Given the description of an element on the screen output the (x, y) to click on. 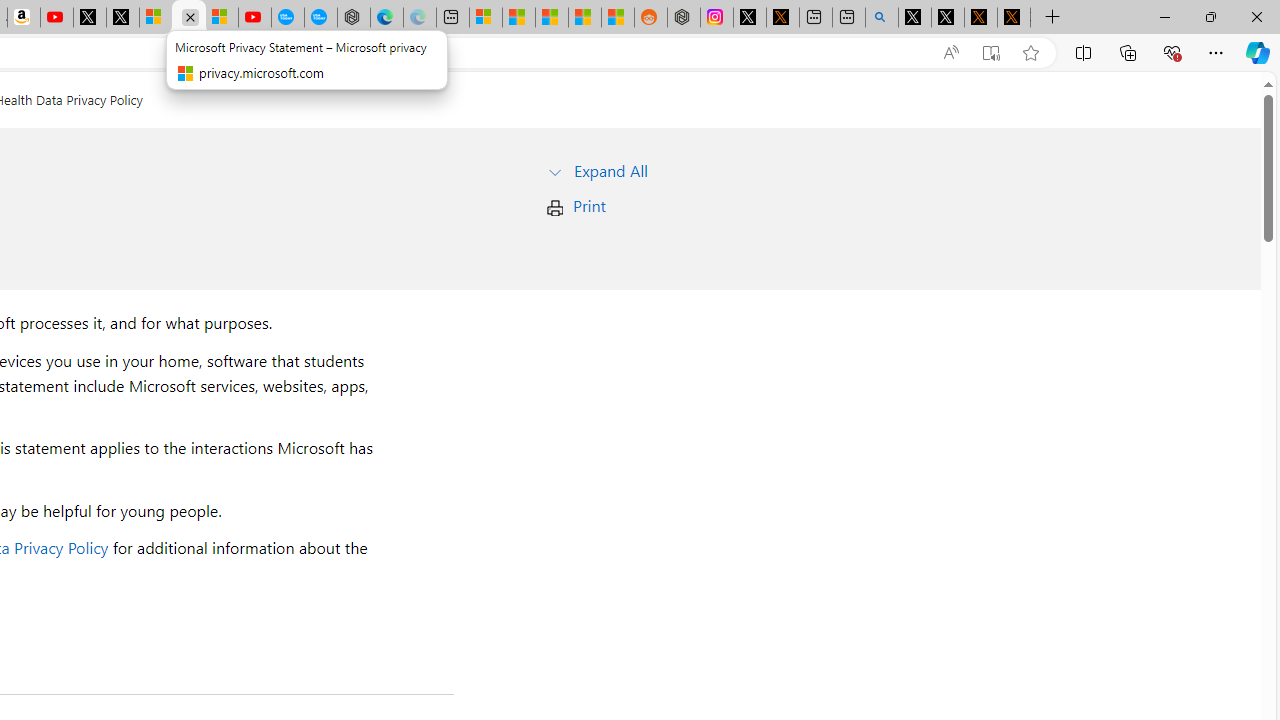
Print (589, 205)
Expand All (610, 170)
